Given the description of an element on the screen output the (x, y) to click on. 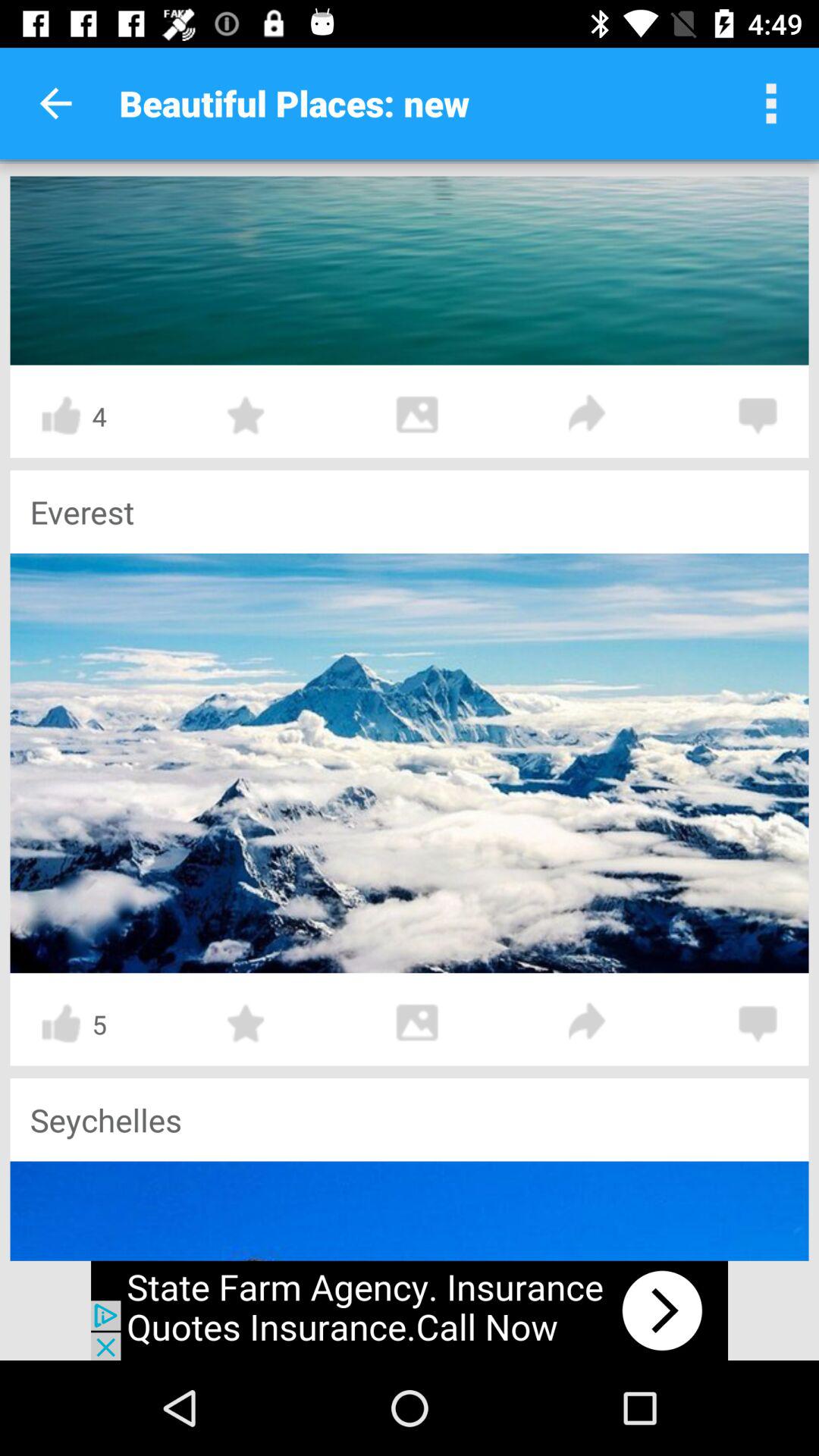
like (61, 1023)
